Given the description of an element on the screen output the (x, y) to click on. 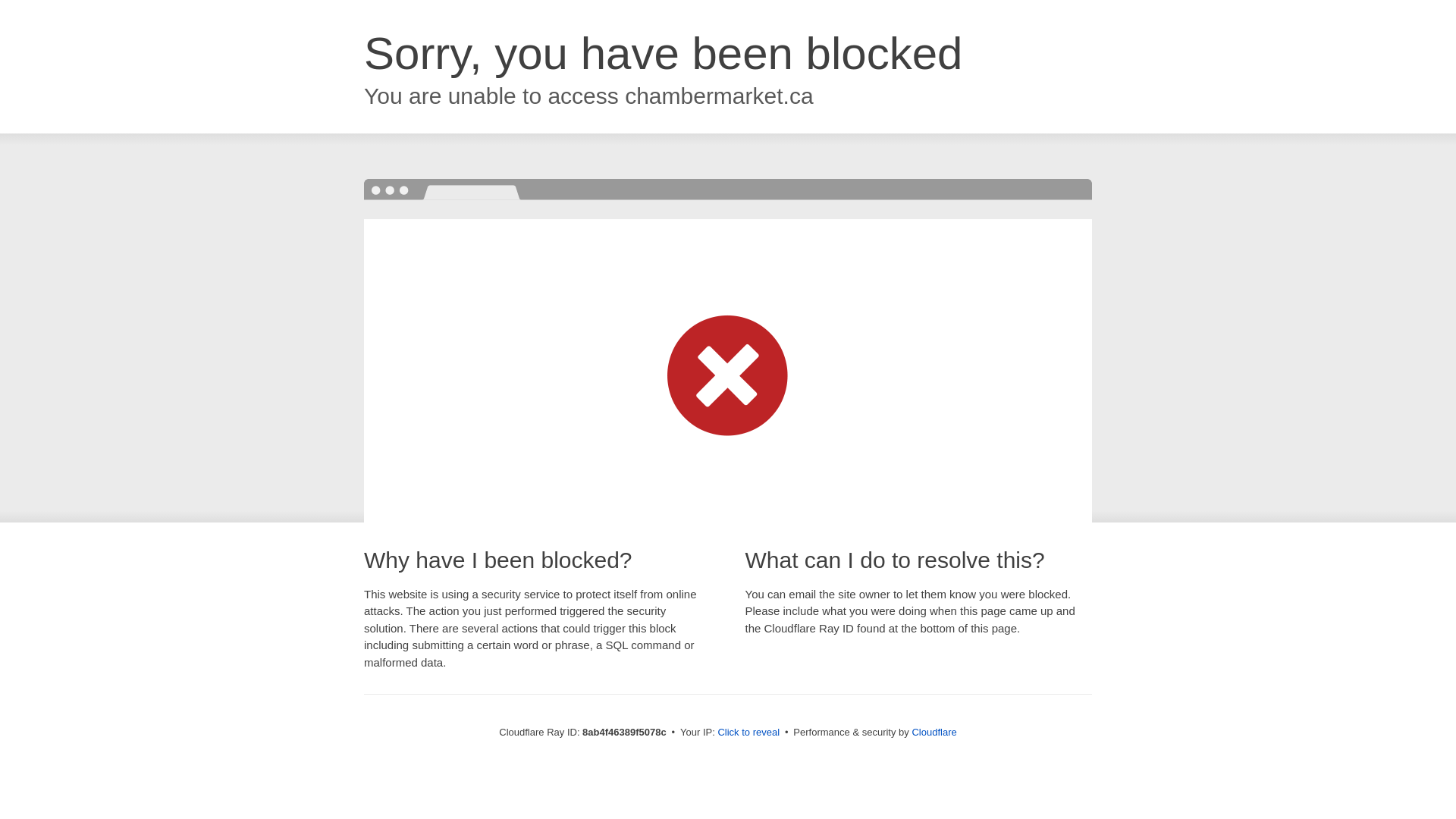
Click to reveal (747, 732)
Cloudflare (933, 731)
